Given the description of an element on the screen output the (x, y) to click on. 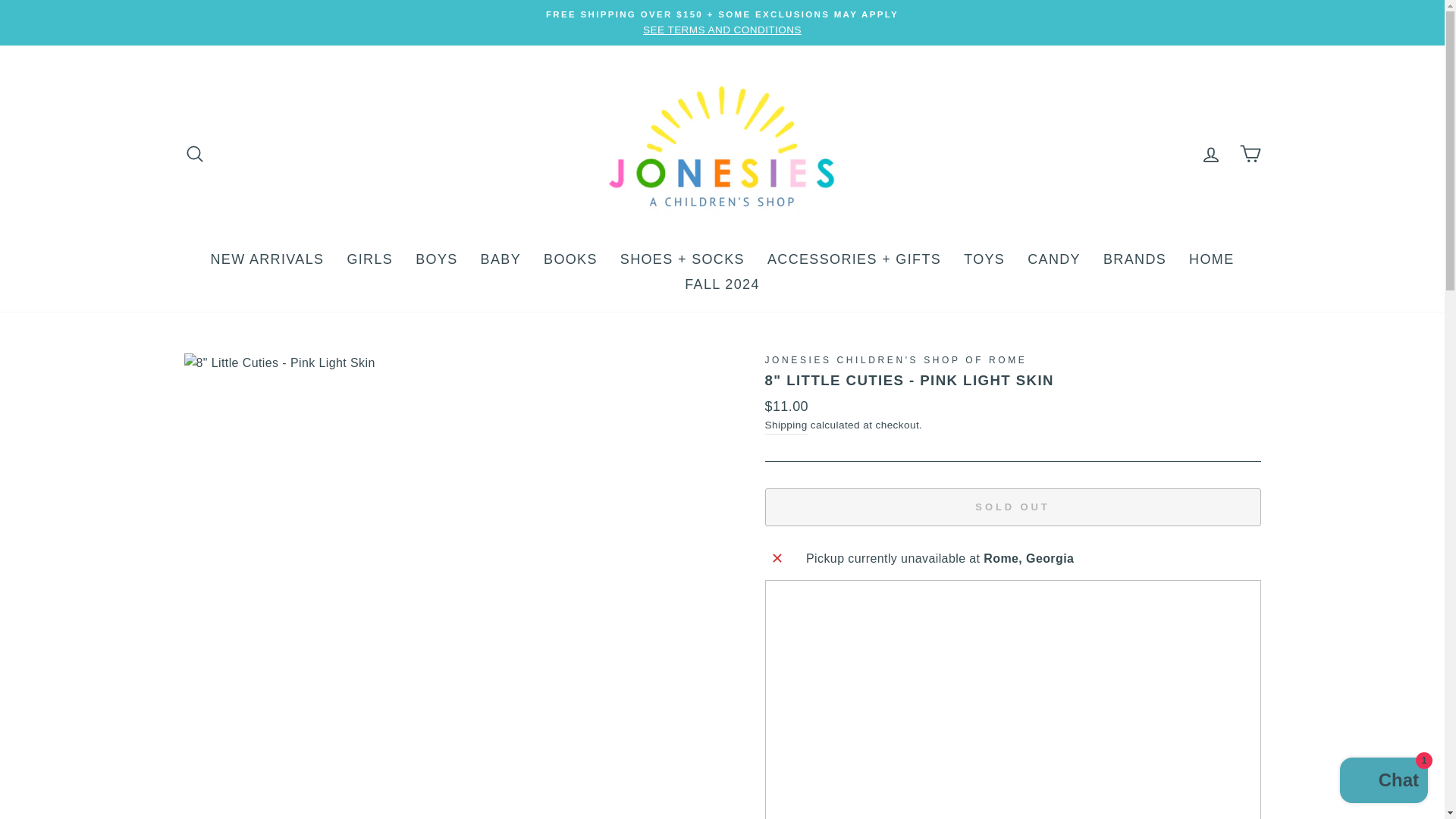
Shopify online store chat (1383, 781)
Jonesies Children's Shop of Rome (895, 359)
